Given the description of an element on the screen output the (x, y) to click on. 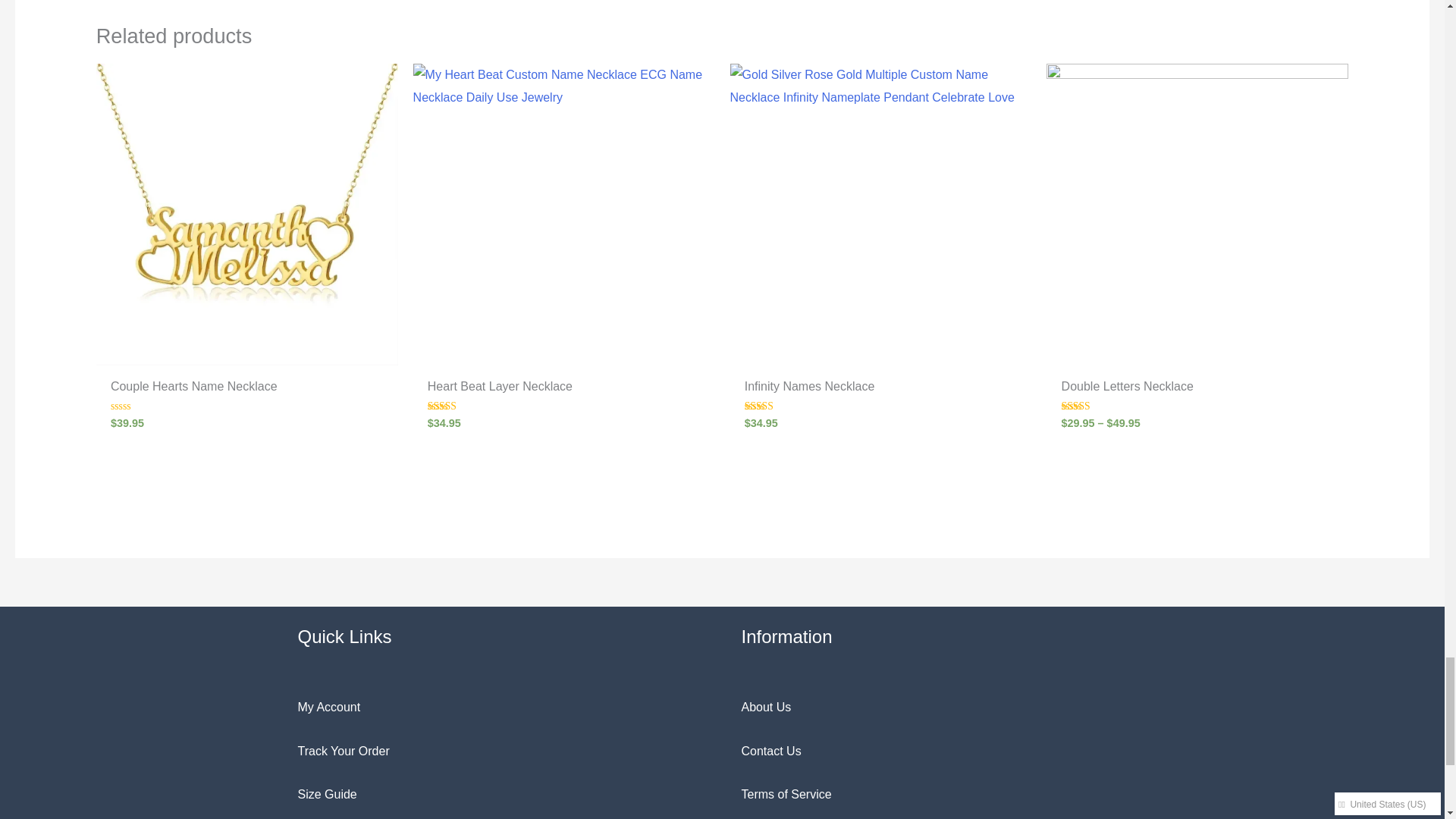
Double Letters Necklace (1198, 390)
Couple Hearts Name Necklace (247, 390)
Heart Beat Layer Necklace (564, 390)
Infinity Names Necklace (880, 390)
